Given the description of an element on the screen output the (x, y) to click on. 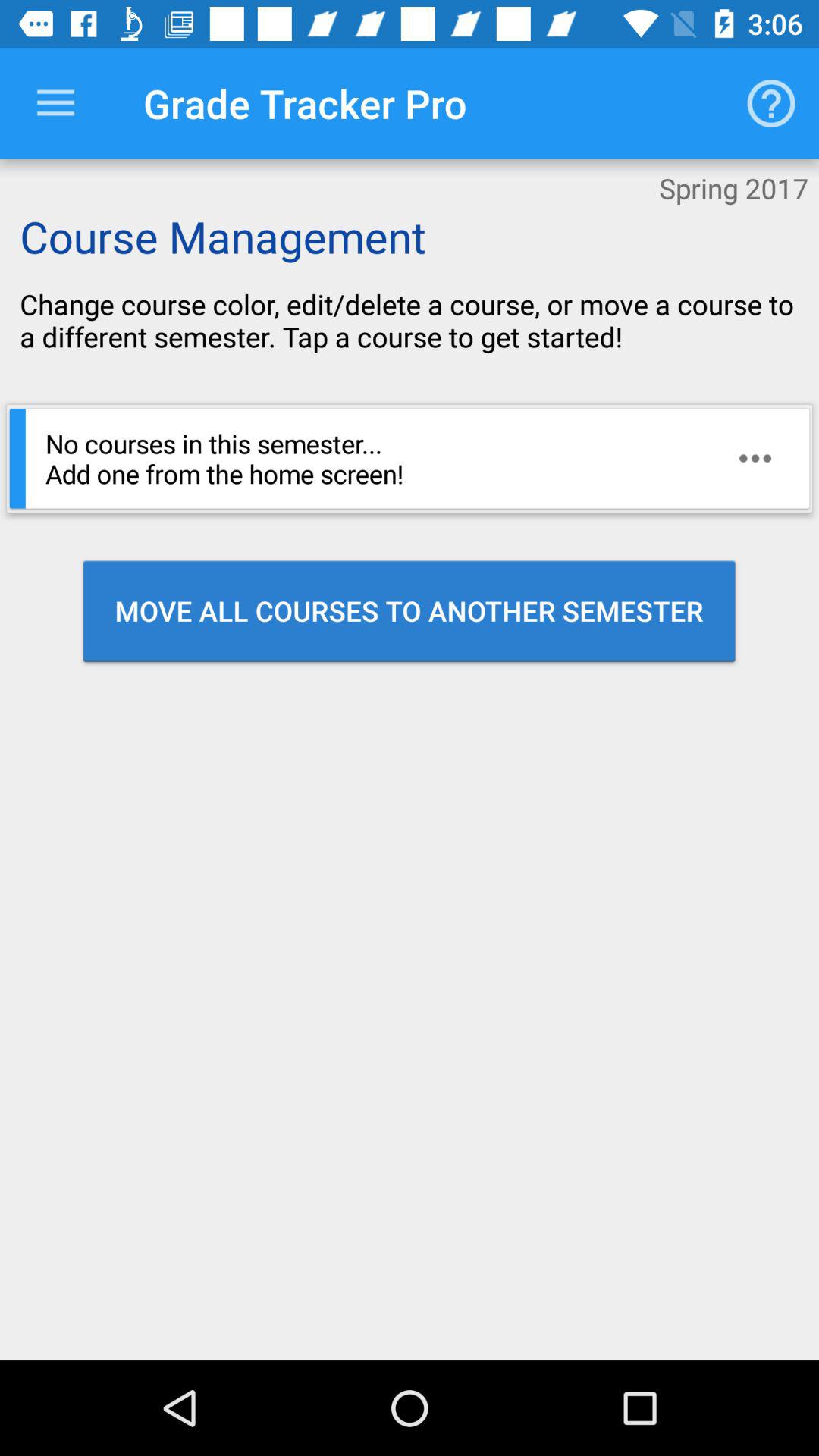
press the icon above the course management icon (55, 103)
